Given the description of an element on the screen output the (x, y) to click on. 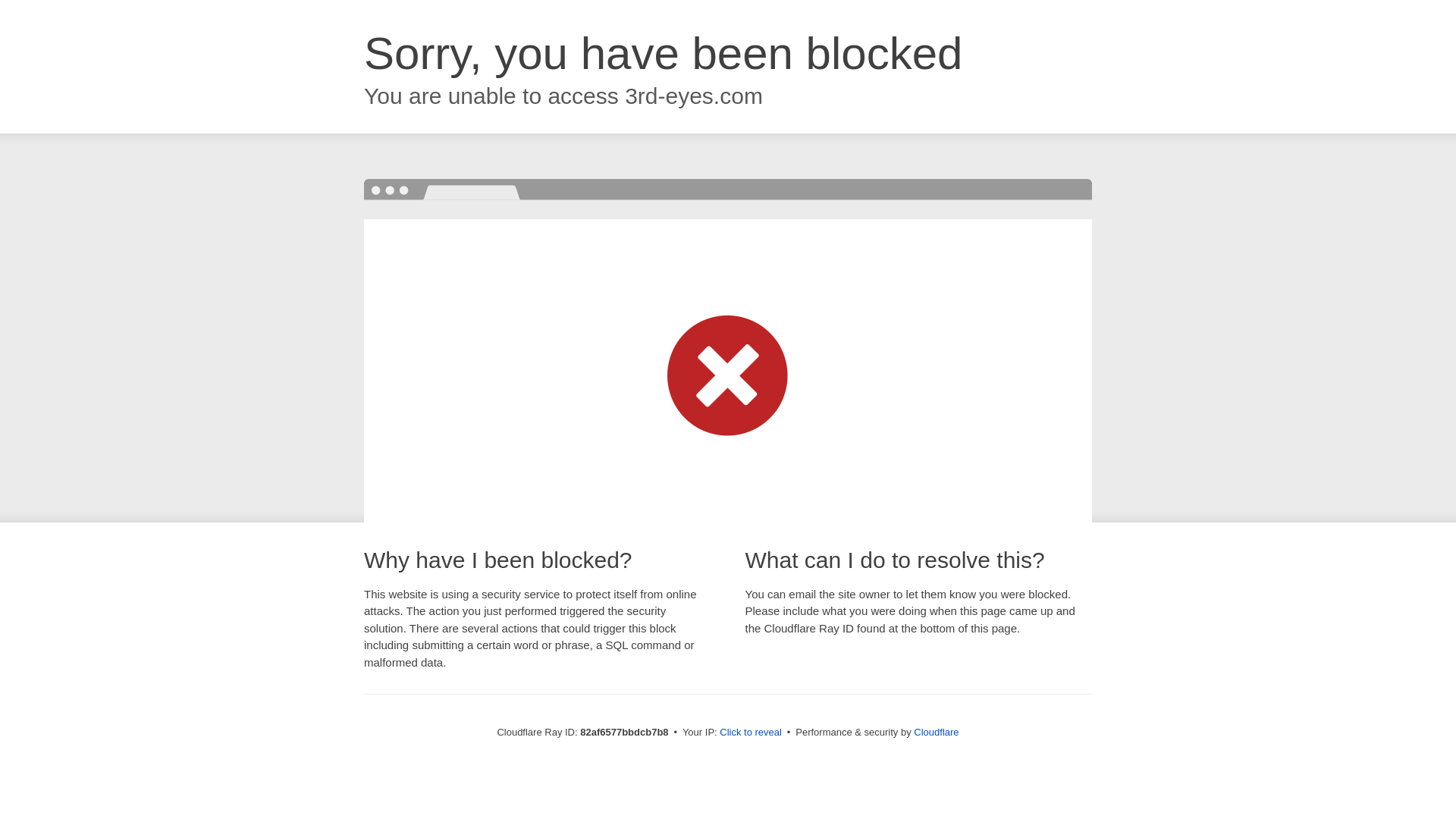
Click to reveal Element type: text (750, 732)
Cloudflare Element type: text (935, 731)
